Given the description of an element on the screen output the (x, y) to click on. 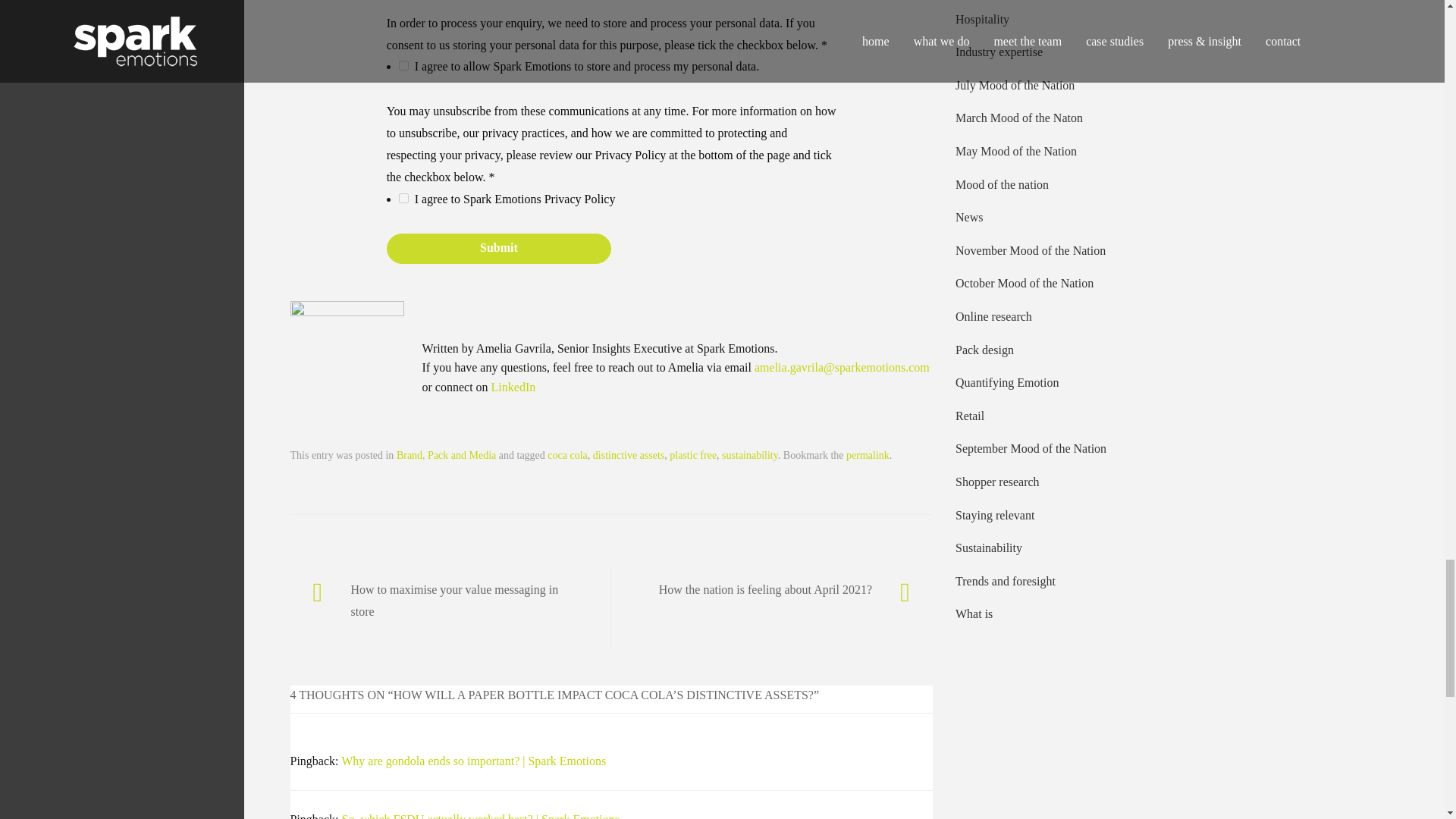
Submit (499, 248)
Brand, Pack and Media (446, 455)
I agree to Spark Emotions Privacy Policy (403, 198)
LinkedIn (513, 386)
